Given the description of an element on the screen output the (x, y) to click on. 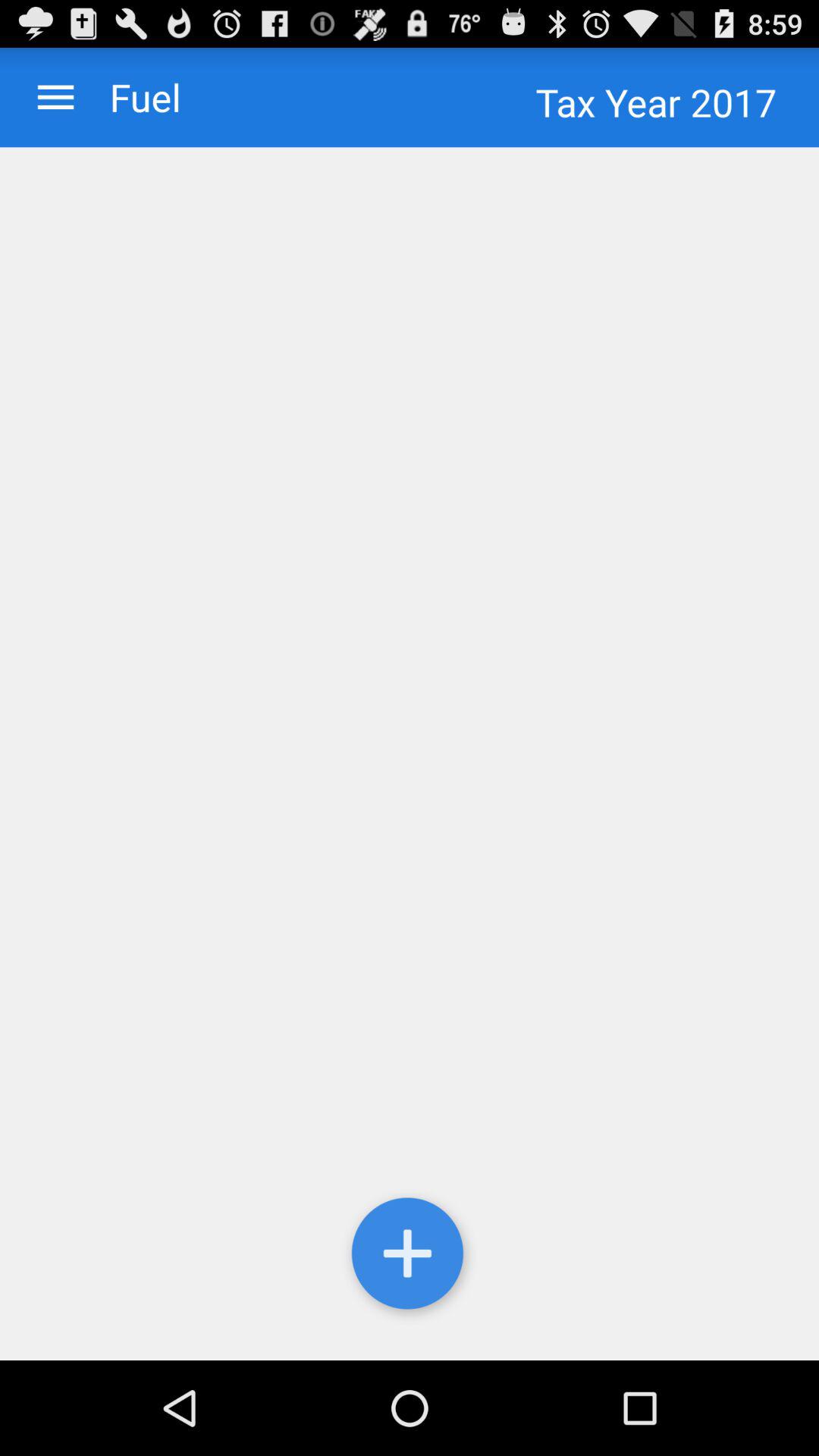
open icon below the tax year 2017 (409, 753)
